Given the description of an element on the screen output the (x, y) to click on. 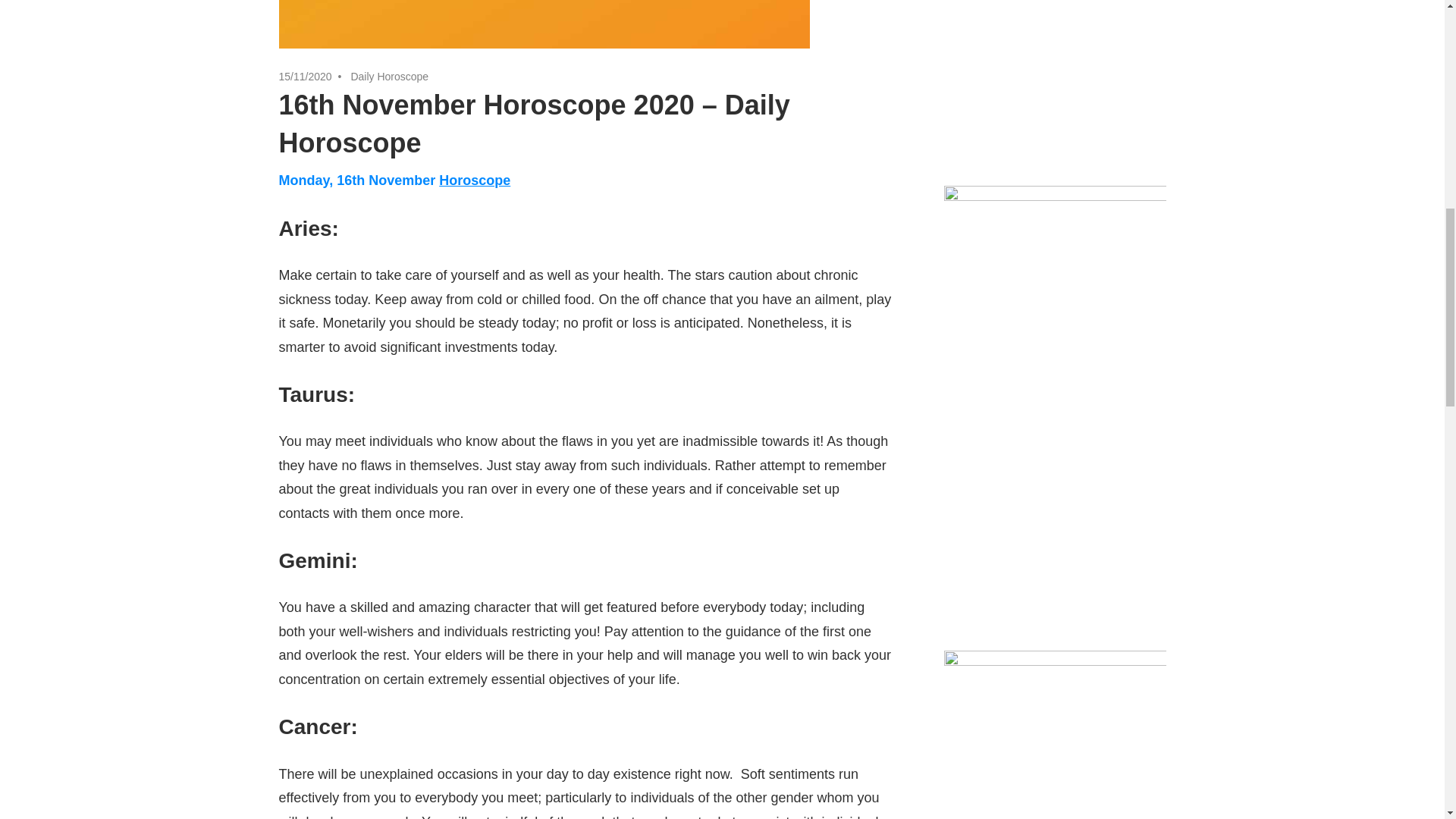
9:33 pm (305, 76)
Horoscope (475, 180)
Daily Horoscope (389, 76)
